Given the description of an element on the screen output the (x, y) to click on. 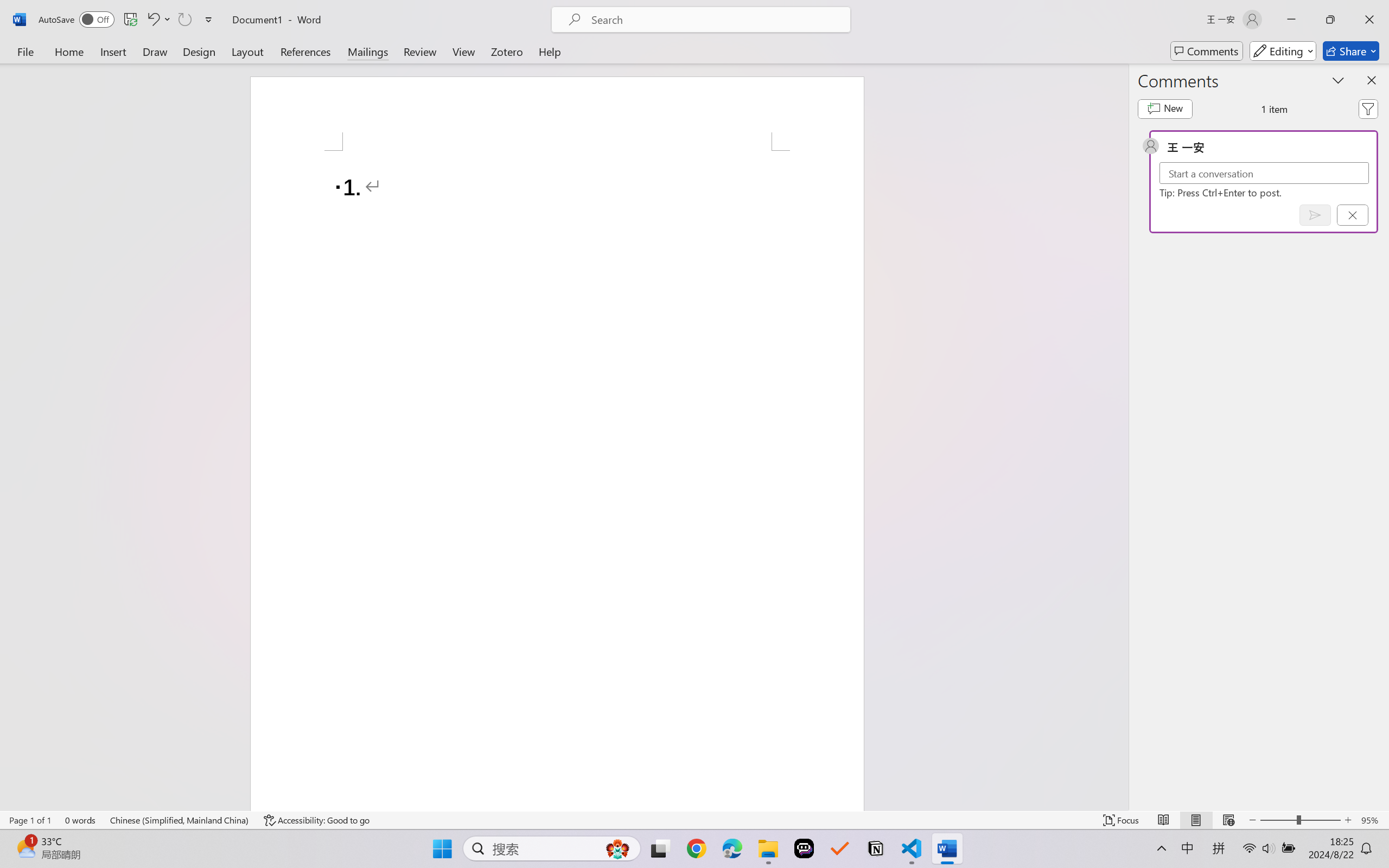
Undo Number Default (152, 19)
Start a conversation (1263, 173)
